Given the description of an element on the screen output the (x, y) to click on. 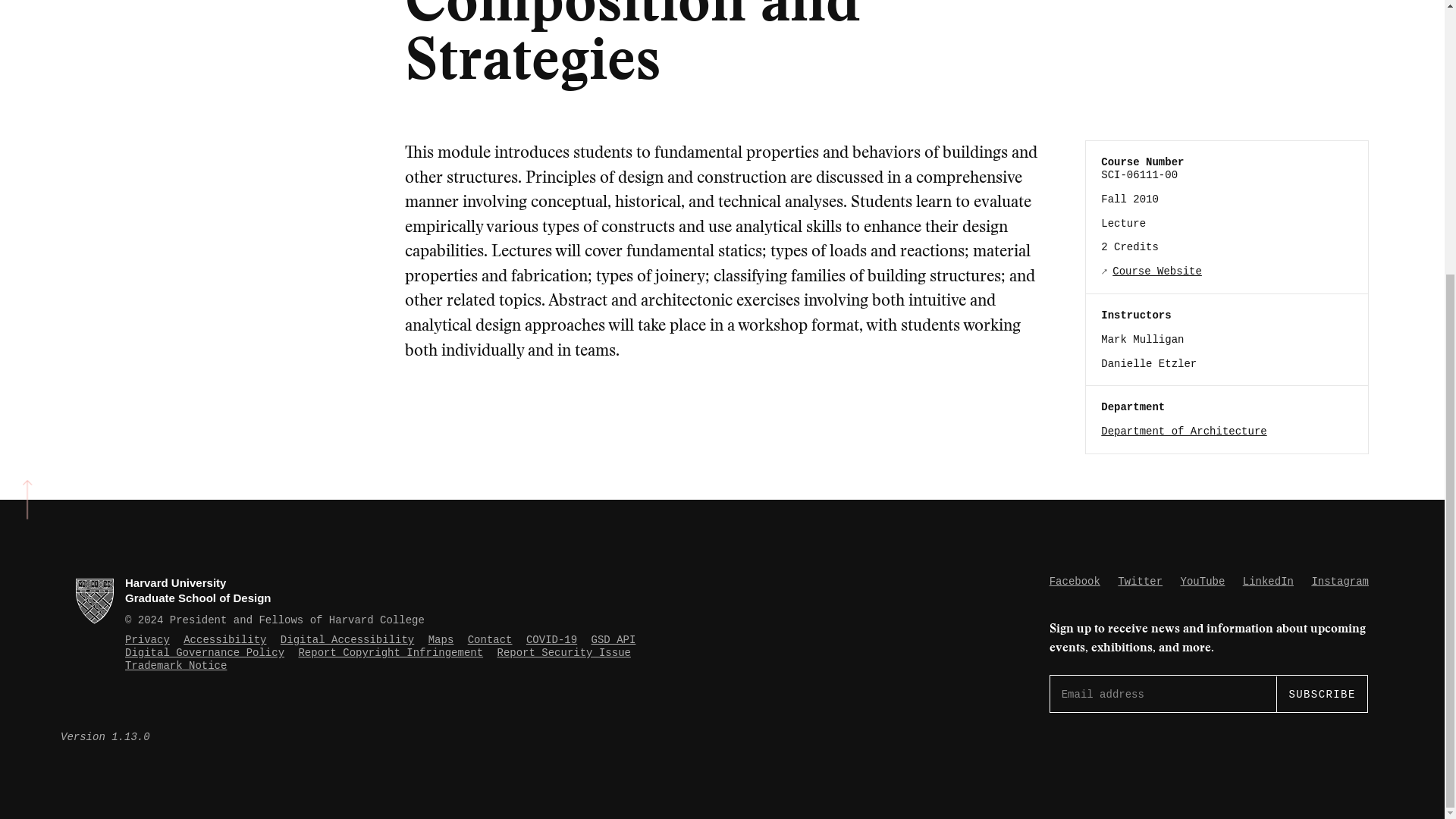
Subscribe (1321, 693)
